Given the description of an element on the screen output the (x, y) to click on. 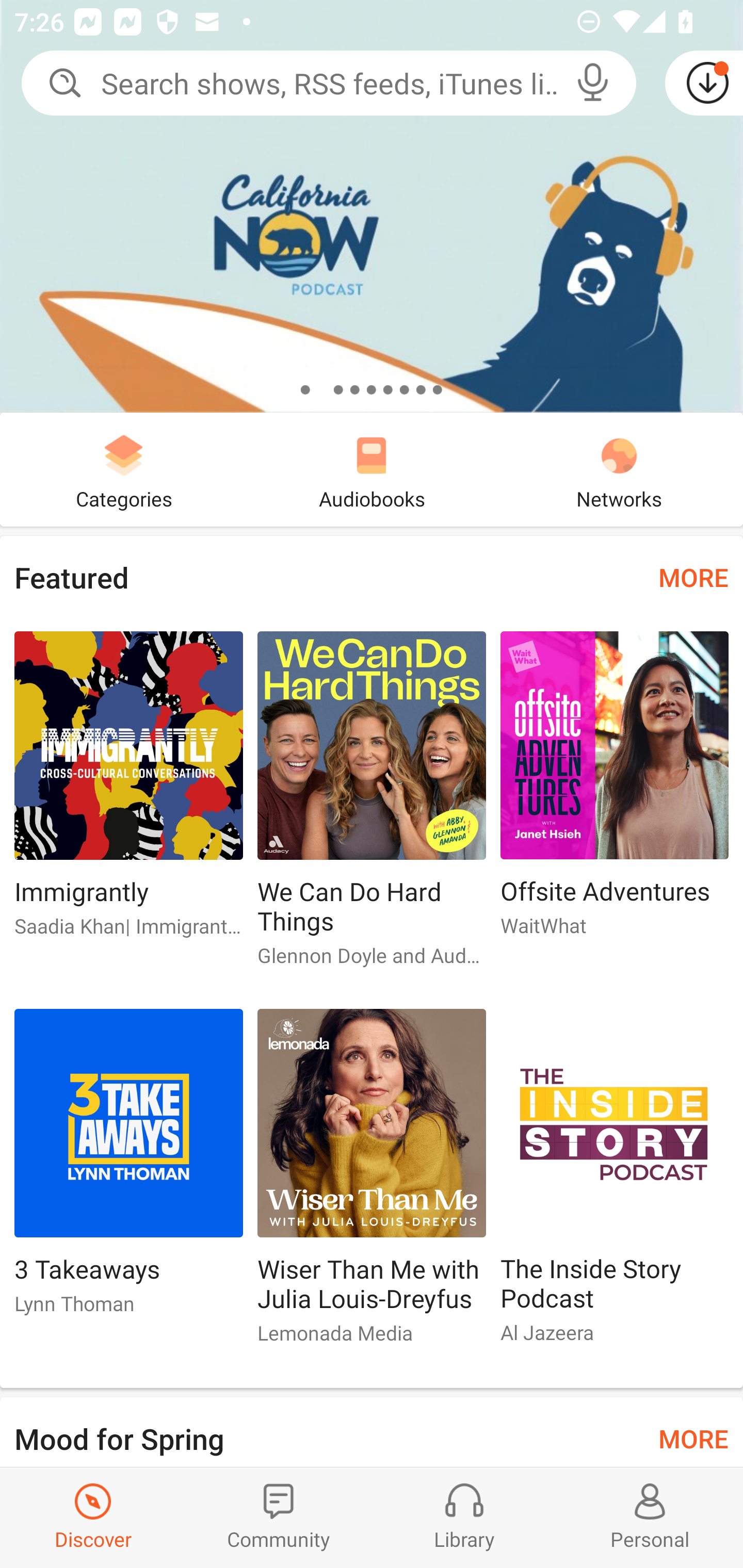
California Now Podcast (371, 206)
Categories (123, 469)
Audiobooks (371, 469)
Networks (619, 469)
MORE (693, 576)
Offsite Adventures Offsite Adventures WaitWhat (614, 792)
3 Takeaways 3 Takeaways Lynn Thoman (128, 1169)
MORE (693, 1436)
Discover (92, 1517)
Community (278, 1517)
Library (464, 1517)
Profiles and Settings Personal (650, 1517)
